Given the description of an element on the screen output the (x, y) to click on. 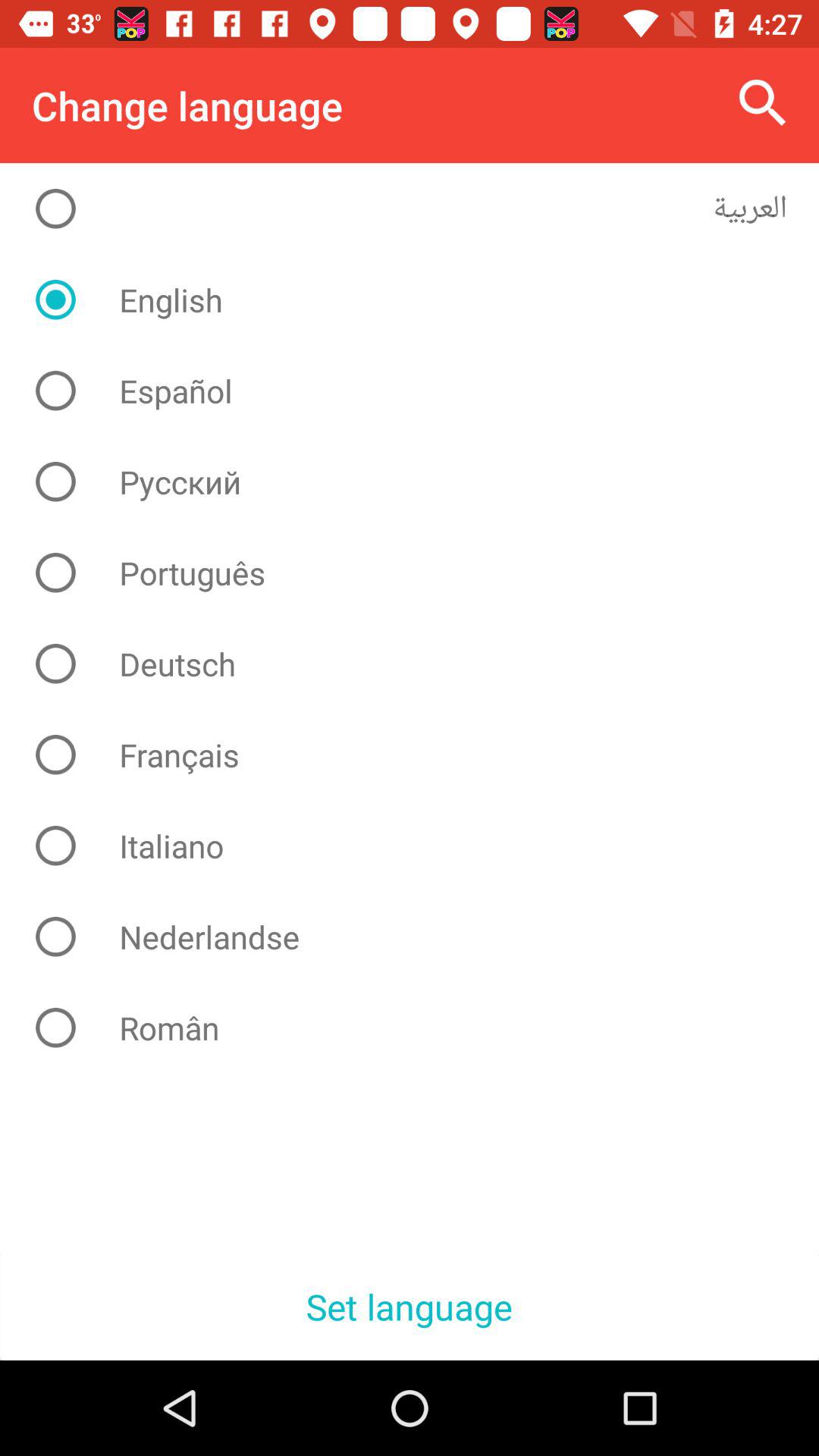
turn on the icon at the top right corner (763, 103)
